Given the description of an element on the screen output the (x, y) to click on. 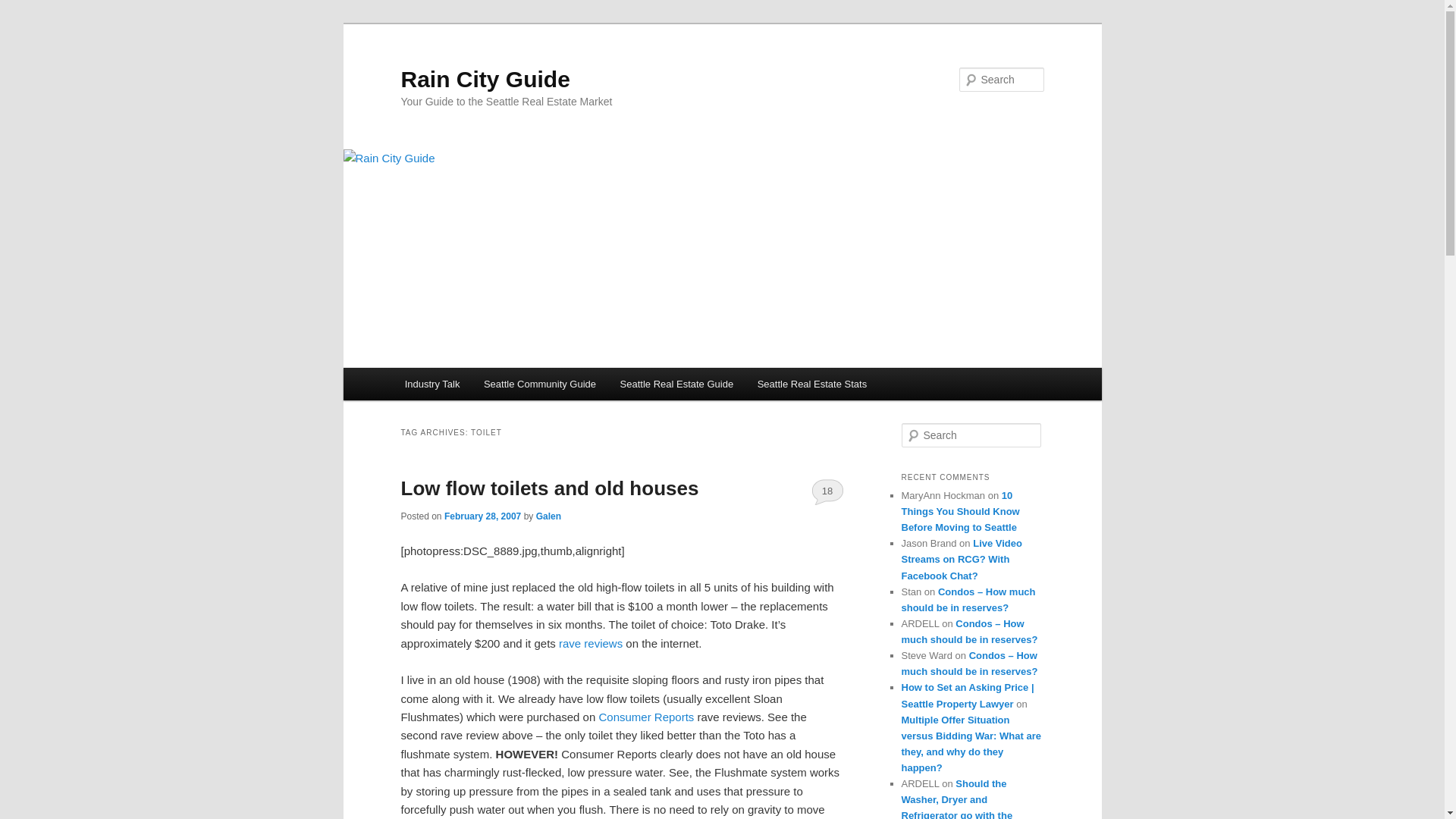
Search (24, 8)
View all posts by Galen (547, 516)
Rain City Guide (484, 78)
Industry Talk (432, 383)
7:12 pm (482, 516)
